Given the description of an element on the screen output the (x, y) to click on. 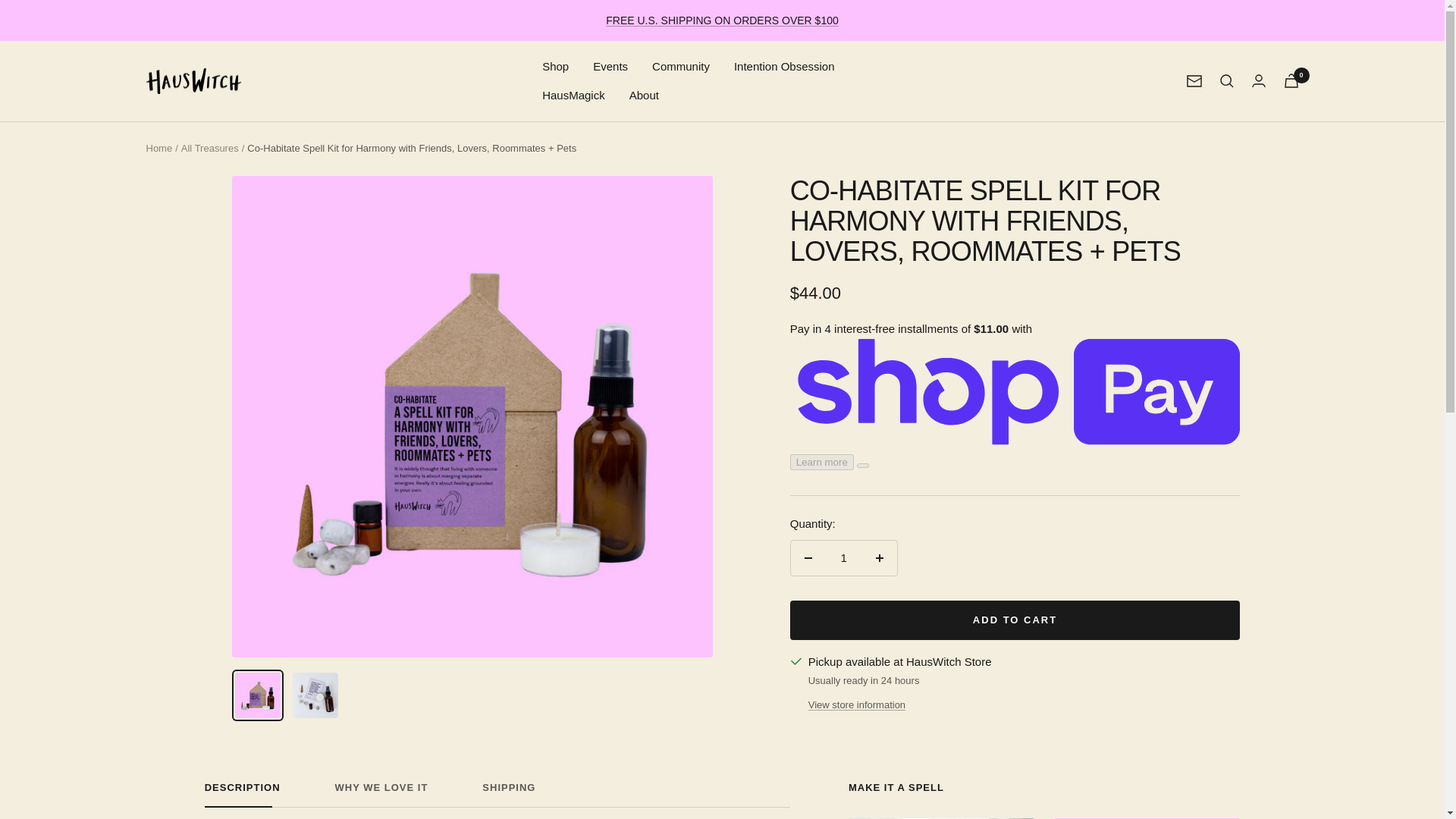
ADD TO CART (1015, 619)
0 (497, 794)
Decrease quantity (1291, 80)
Newsletter (807, 557)
Events (1194, 80)
WHY WE LOVE IT (609, 66)
Intention Obsession (381, 794)
HausWitch (783, 66)
All Treasures (192, 81)
